Given the description of an element on the screen output the (x, y) to click on. 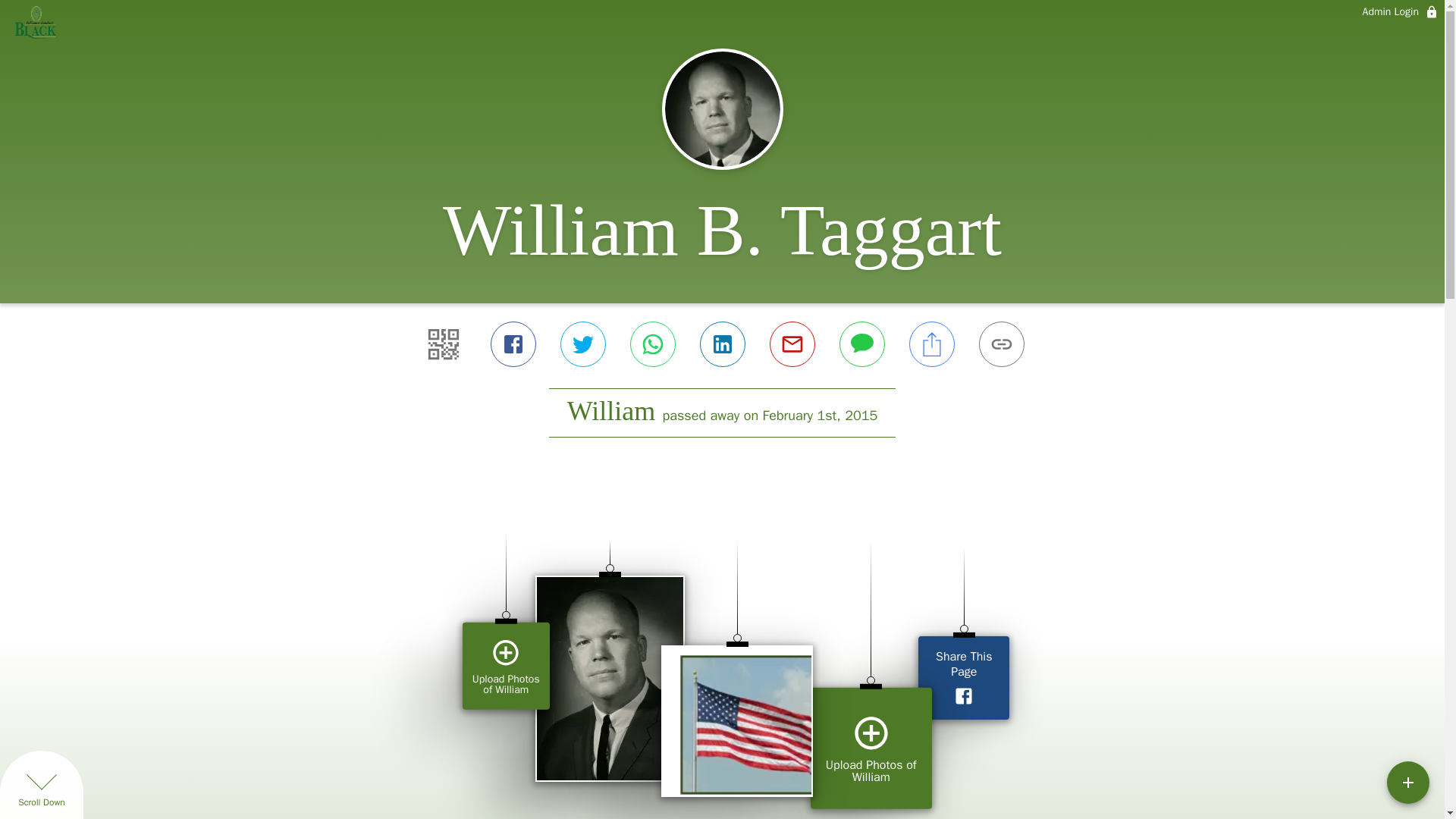
Upload Photos of William (506, 666)
Upload Photos of William (870, 748)
Share This Page (963, 677)
